Given the description of an element on the screen output the (x, y) to click on. 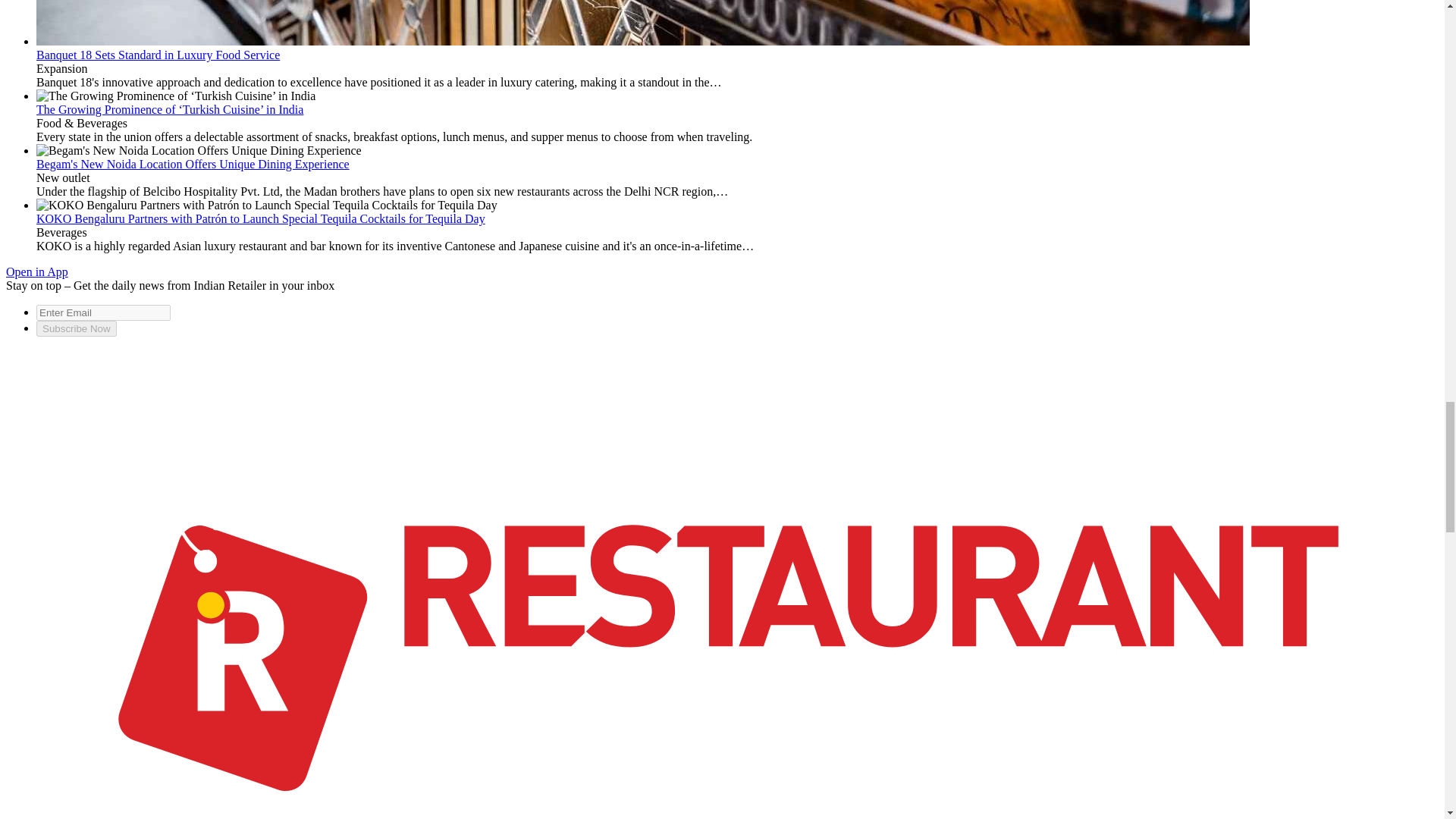
Open in App (36, 271)
Banquet 18 Sets Standard in Luxury Food Service (157, 54)
Subscribe Now (76, 328)
Begam's New Noida Location Offers Unique Dining Experience (192, 164)
